Given the description of an element on the screen output the (x, y) to click on. 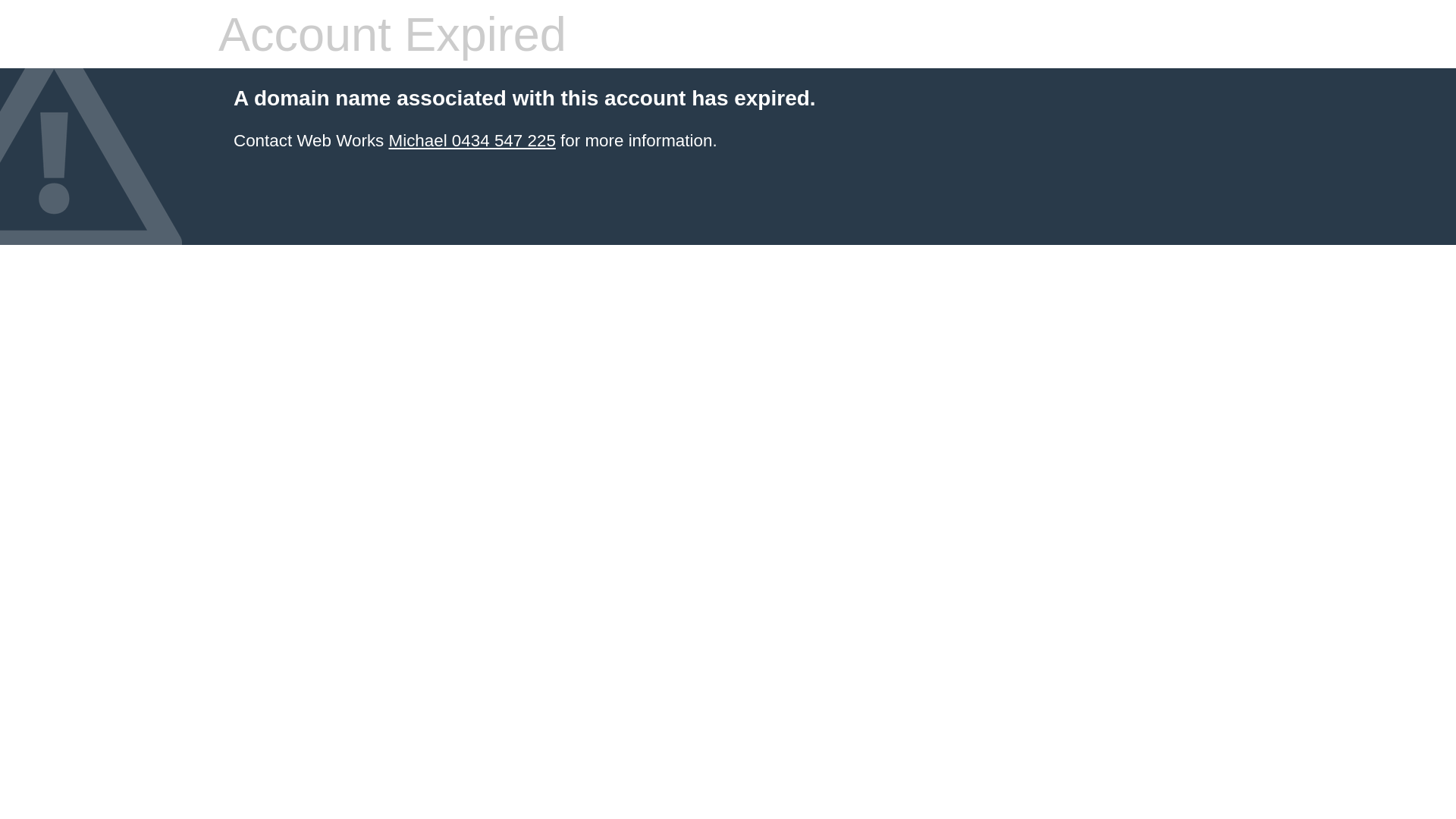
Michael 0434 547 225 Element type: text (471, 140)
